Given the description of an element on the screen output the (x, y) to click on. 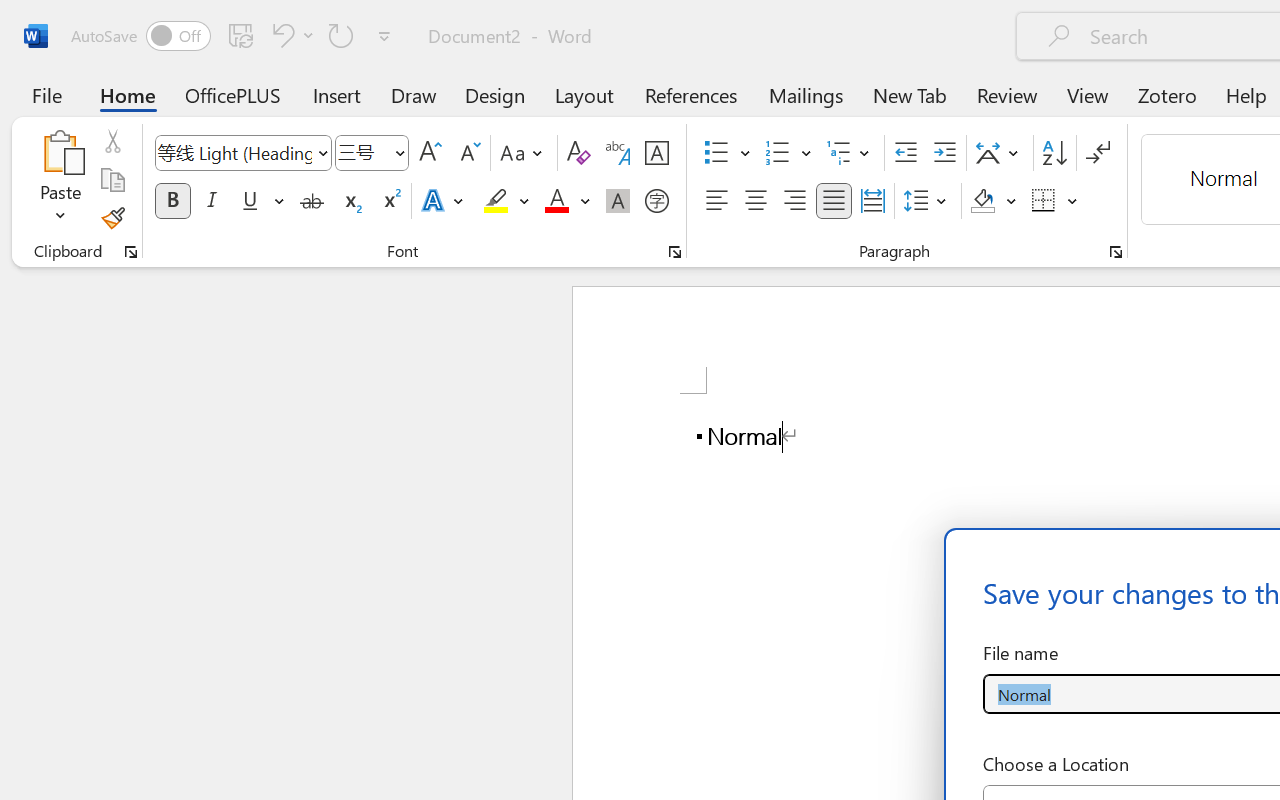
Copy (112, 179)
Superscript (390, 201)
View (1087, 94)
Increase Indent (944, 153)
Text Highlight Color (506, 201)
Character Shading (618, 201)
File Tab (46, 94)
Design (495, 94)
Text Highlight Color Yellow (495, 201)
Font Size (362, 152)
Underline (250, 201)
Mailings (806, 94)
Sort... (1054, 153)
Quick Access Toolbar (233, 36)
Phonetic Guide... (618, 153)
